Given the description of an element on the screen output the (x, y) to click on. 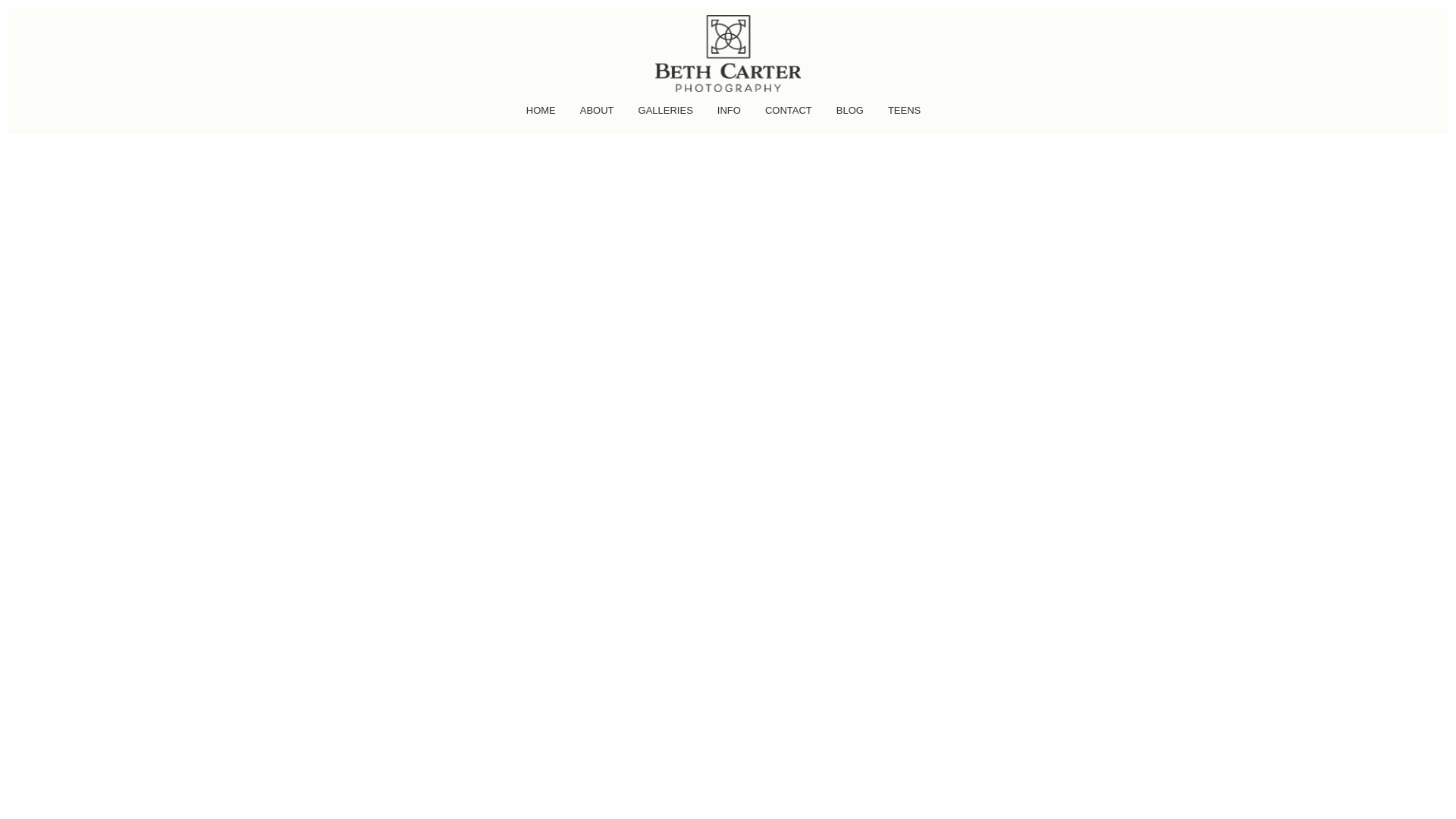
TEENS (908, 114)
INFO (733, 114)
HOME (545, 114)
GALLERIES (670, 114)
CONTACT (792, 114)
BLOG (854, 114)
ABOUT (601, 114)
